Given the description of an element on the screen output the (x, y) to click on. 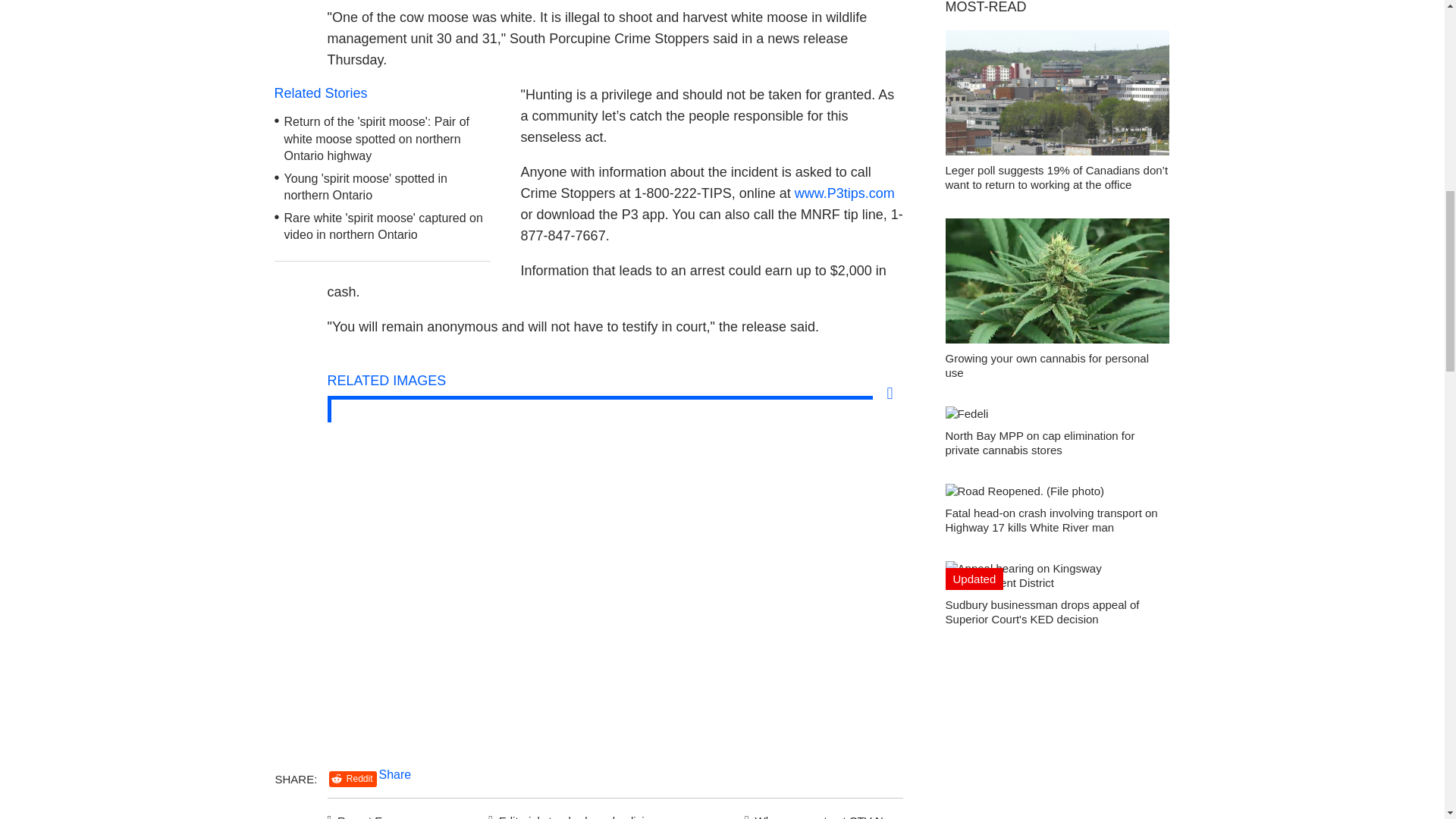
www.P3tips.com (844, 192)
Editorial standards and policies (569, 813)
Report Error (363, 813)
Reddit (353, 779)
Share (395, 774)
Why you can trust CTV News (820, 813)
Young 'spirit moose' spotted in northern Ontario (364, 186)
